Given the description of an element on the screen output the (x, y) to click on. 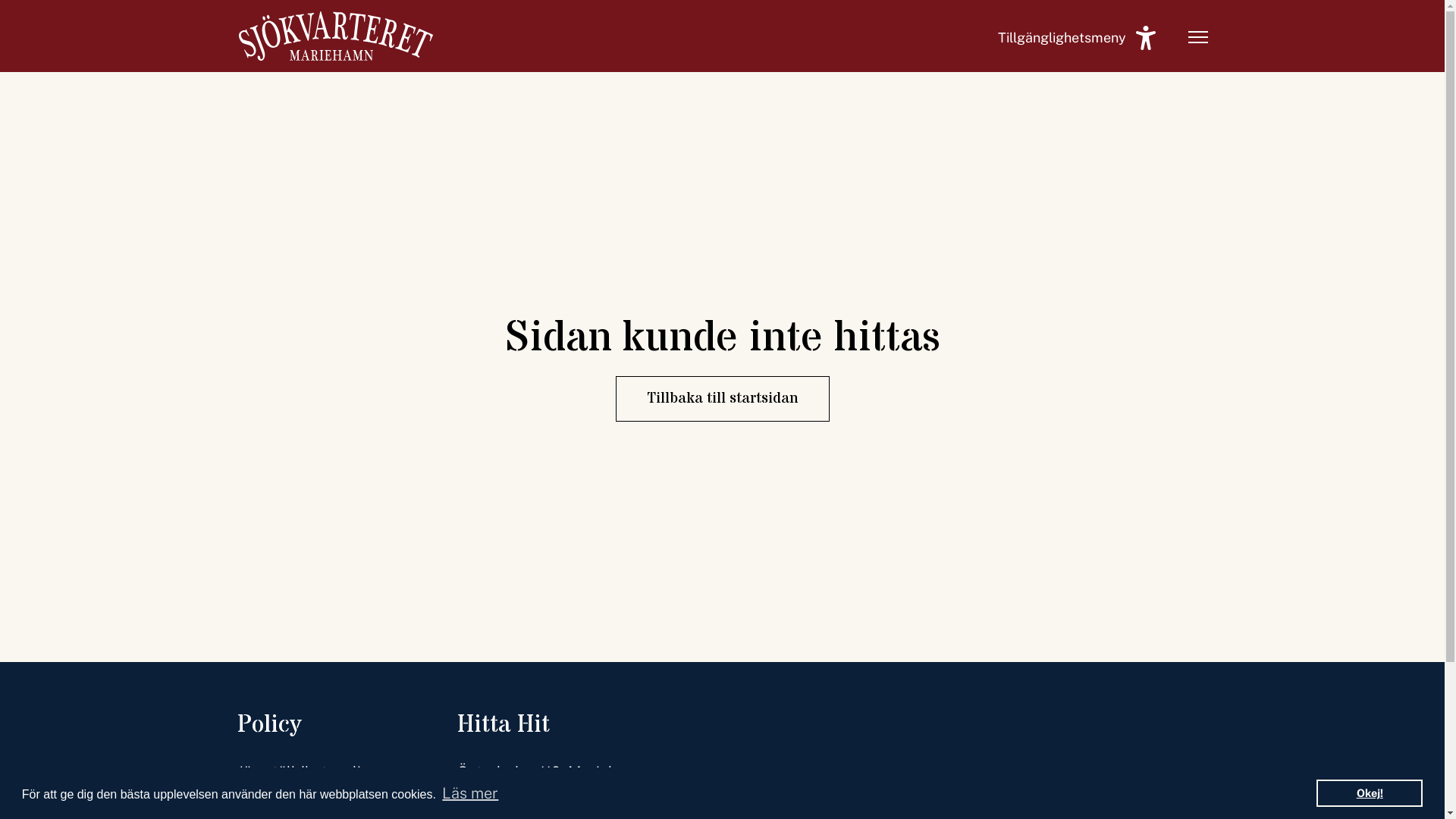
Okej! Element type: text (1369, 792)
+358 40 5283899 Element type: text (550, 803)
Dataskyddspolicy Element type: text (317, 803)
Tillbaka till startsidan Element type: text (722, 398)
